Given the description of an element on the screen output the (x, y) to click on. 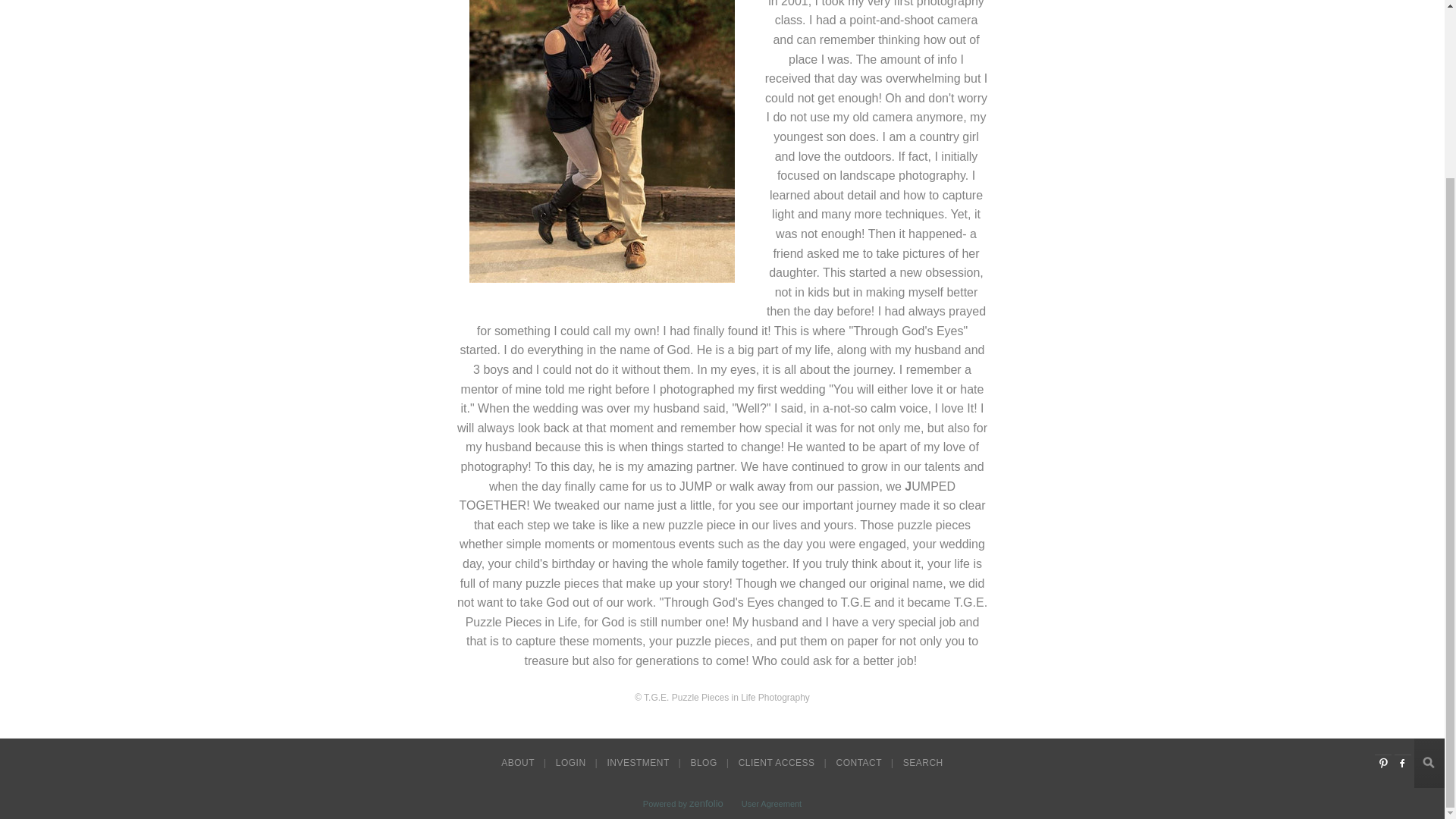
INVESTMENT (638, 762)
CLIENT ACCESS (778, 762)
ABOUT (519, 762)
LOGIN (572, 762)
CONTACT (859, 762)
BLOG (704, 762)
SEARCH (922, 762)
